Given the description of an element on the screen output the (x, y) to click on. 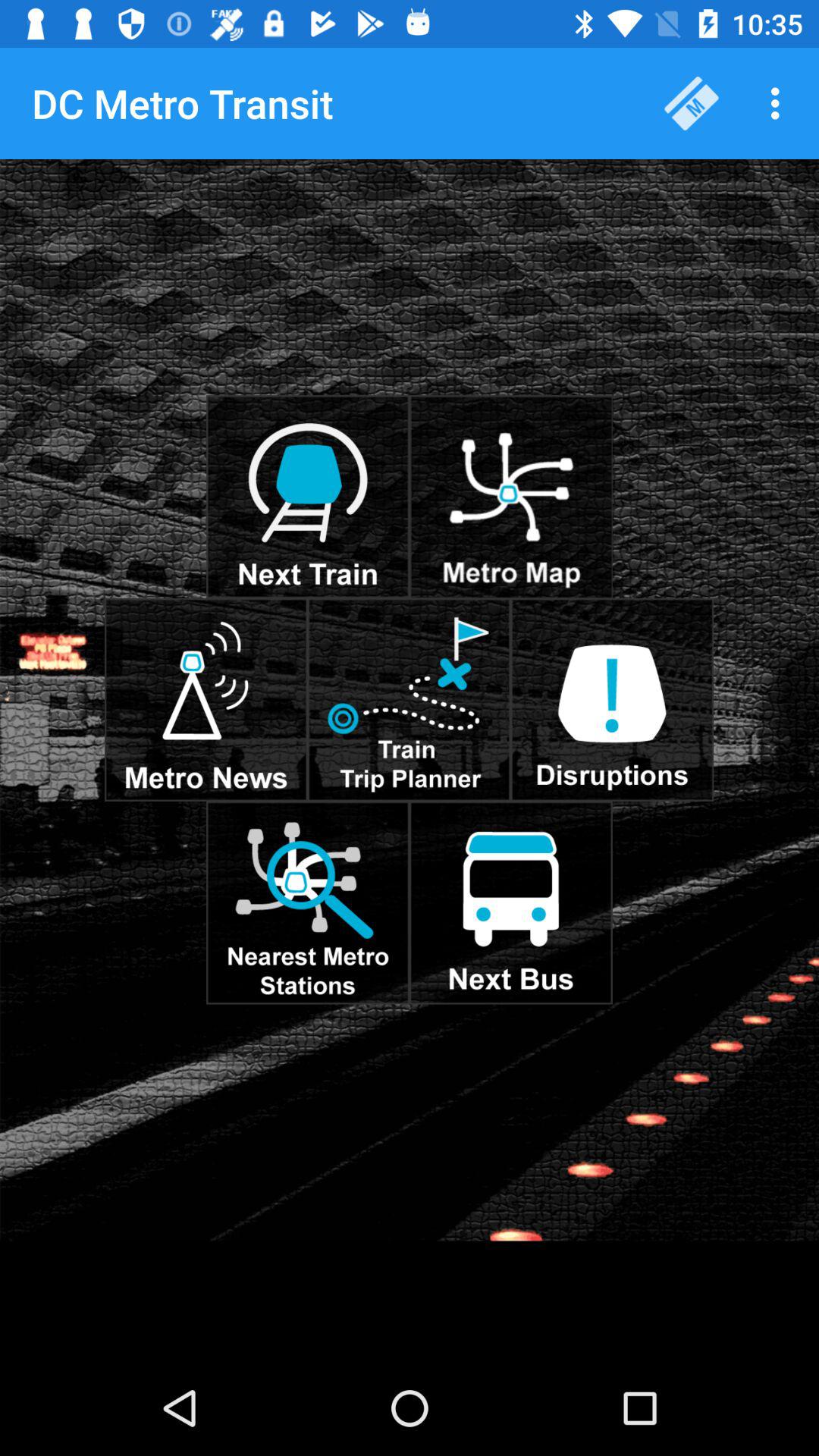
next but button (510, 902)
